Given the description of an element on the screen output the (x, y) to click on. 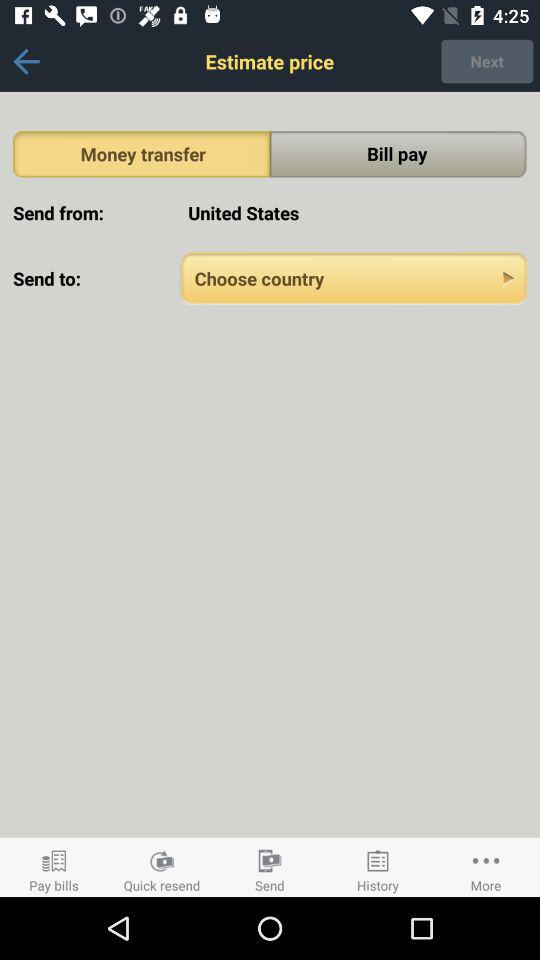
go back button (26, 61)
